Given the description of an element on the screen output the (x, y) to click on. 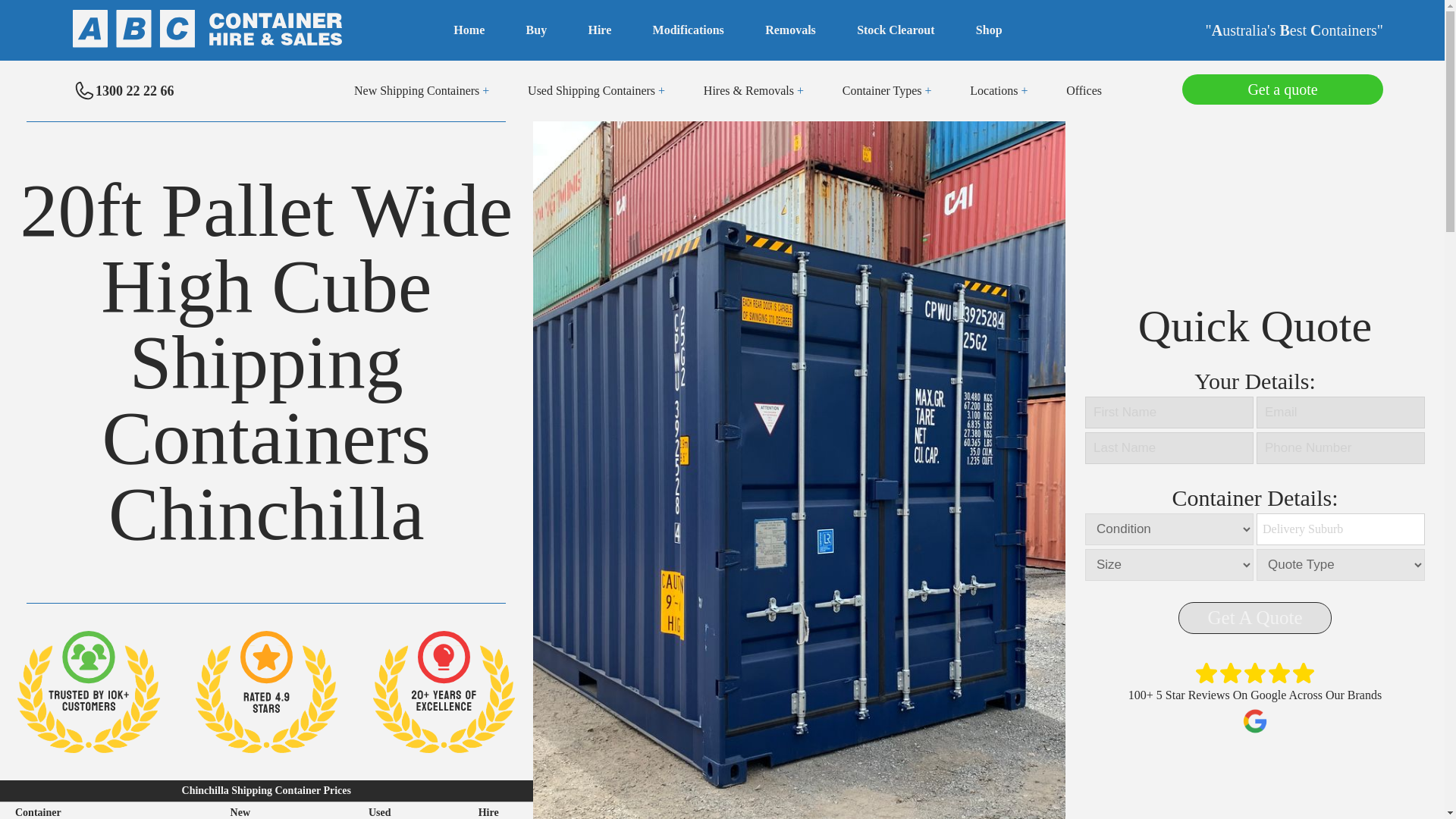
Shop (989, 29)
Buy (536, 29)
Modifications (687, 29)
Hire (599, 29)
Removals (790, 29)
Get A Quote (1254, 617)
Home (468, 29)
Get a quote (1282, 86)
1300 22 22 66 (123, 90)
Offices (1083, 90)
